Given the description of an element on the screen output the (x, y) to click on. 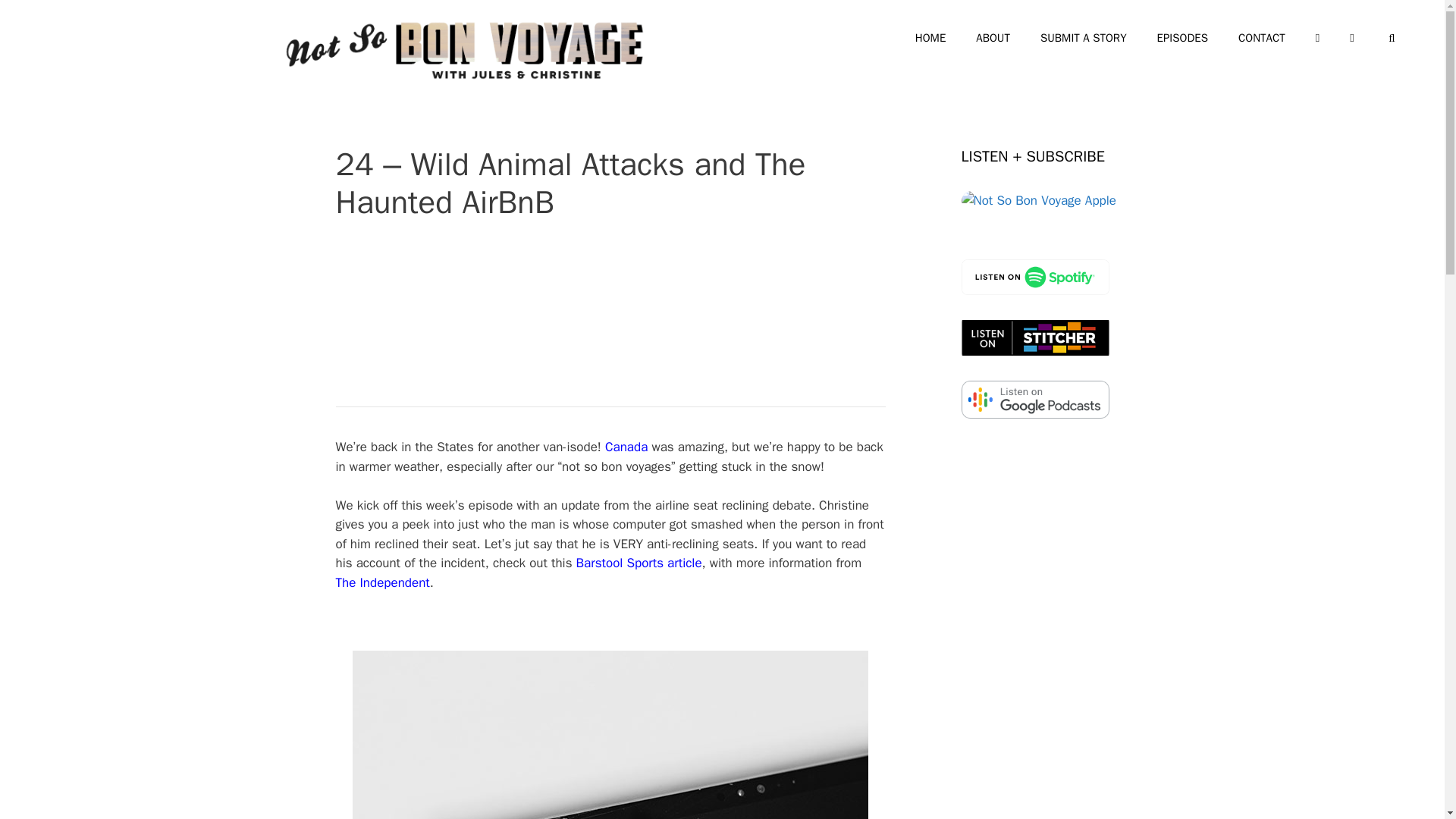
Not So Bon Voyage Travel Podcast (464, 50)
SUBMIT A STORY (1083, 37)
Canada (626, 446)
seat recline broken laptop (609, 734)
ABOUT (992, 37)
Barstool Sports article (638, 562)
The Independent (381, 582)
HOME (929, 37)
CONTACT (1261, 37)
EPISODES (1182, 37)
Not So Bon Voyage Travel Podcast (464, 48)
